Given the description of an element on the screen output the (x, y) to click on. 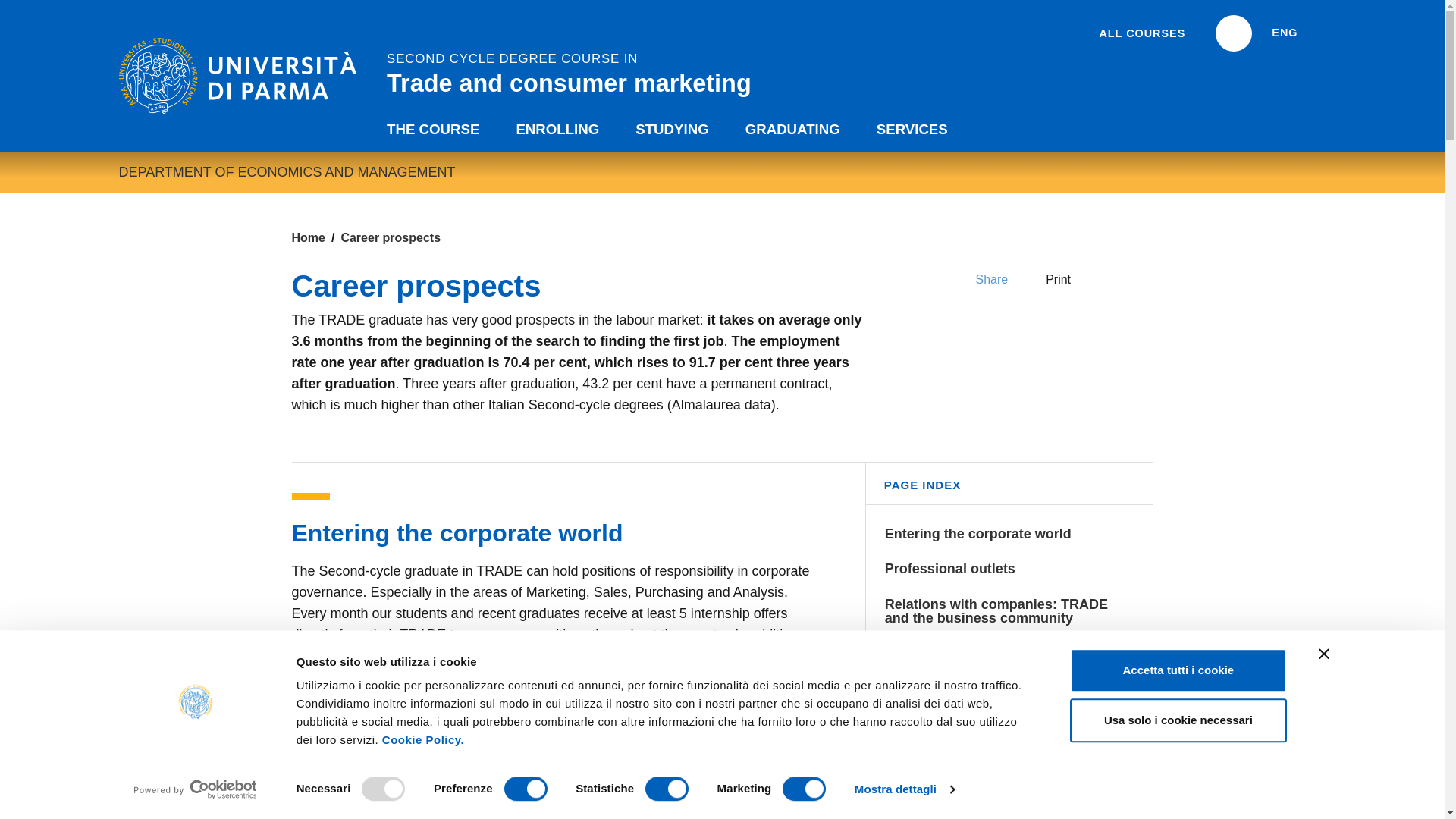
Mostra dettagli (904, 789)
Cookie Policy. (422, 739)
